Given the description of an element on the screen output the (x, y) to click on. 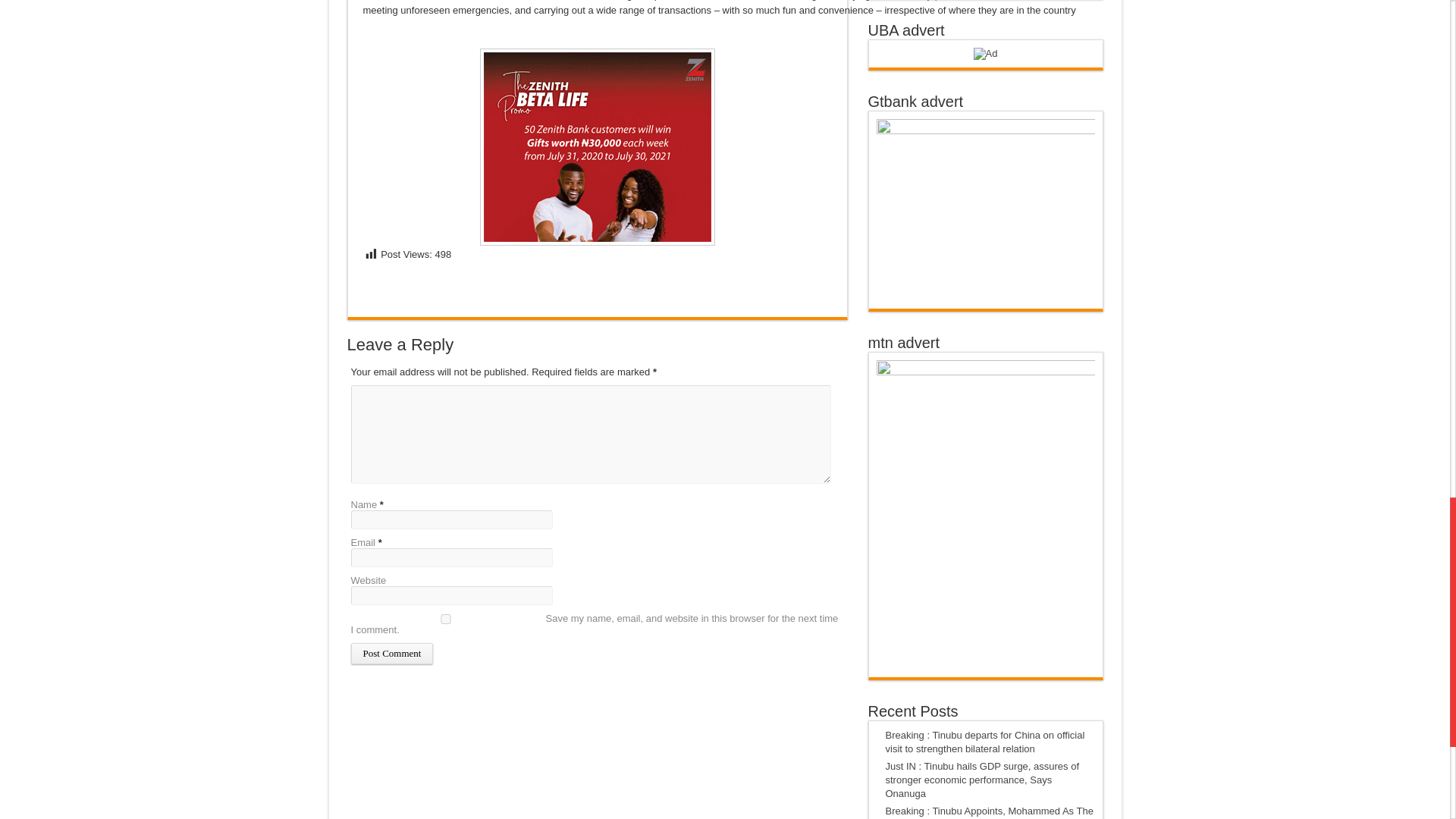
Post Comment (391, 653)
yes (445, 619)
Post Comment (391, 653)
